Given the description of an element on the screen output the (x, y) to click on. 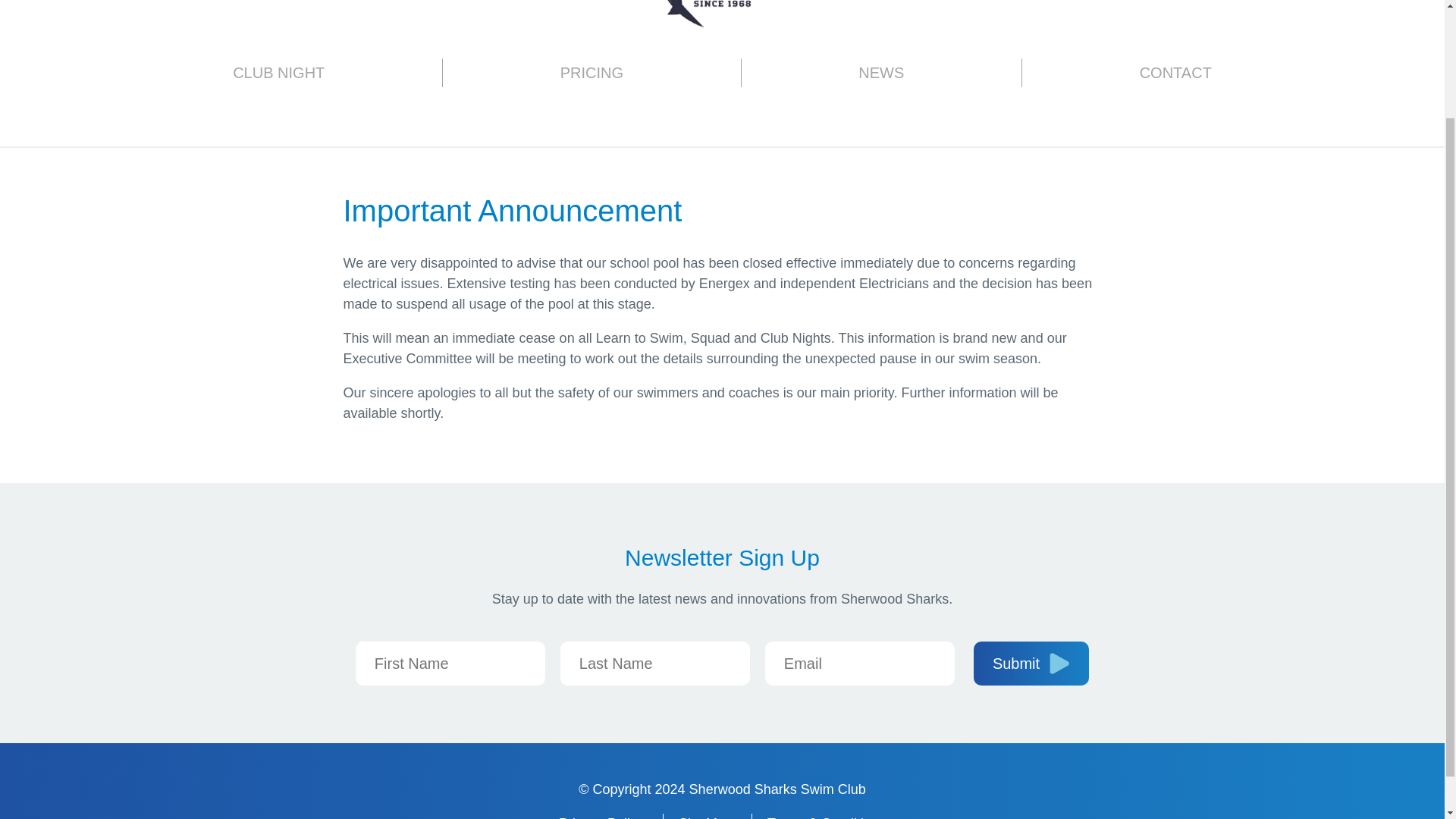
Submit (1031, 663)
CONTACT (1175, 72)
Submit (1031, 663)
PRICING (591, 72)
CLUB NIGHT (278, 72)
Sherwood Sharks Swim Club (721, 13)
NEWS (881, 72)
